Given the description of an element on the screen output the (x, y) to click on. 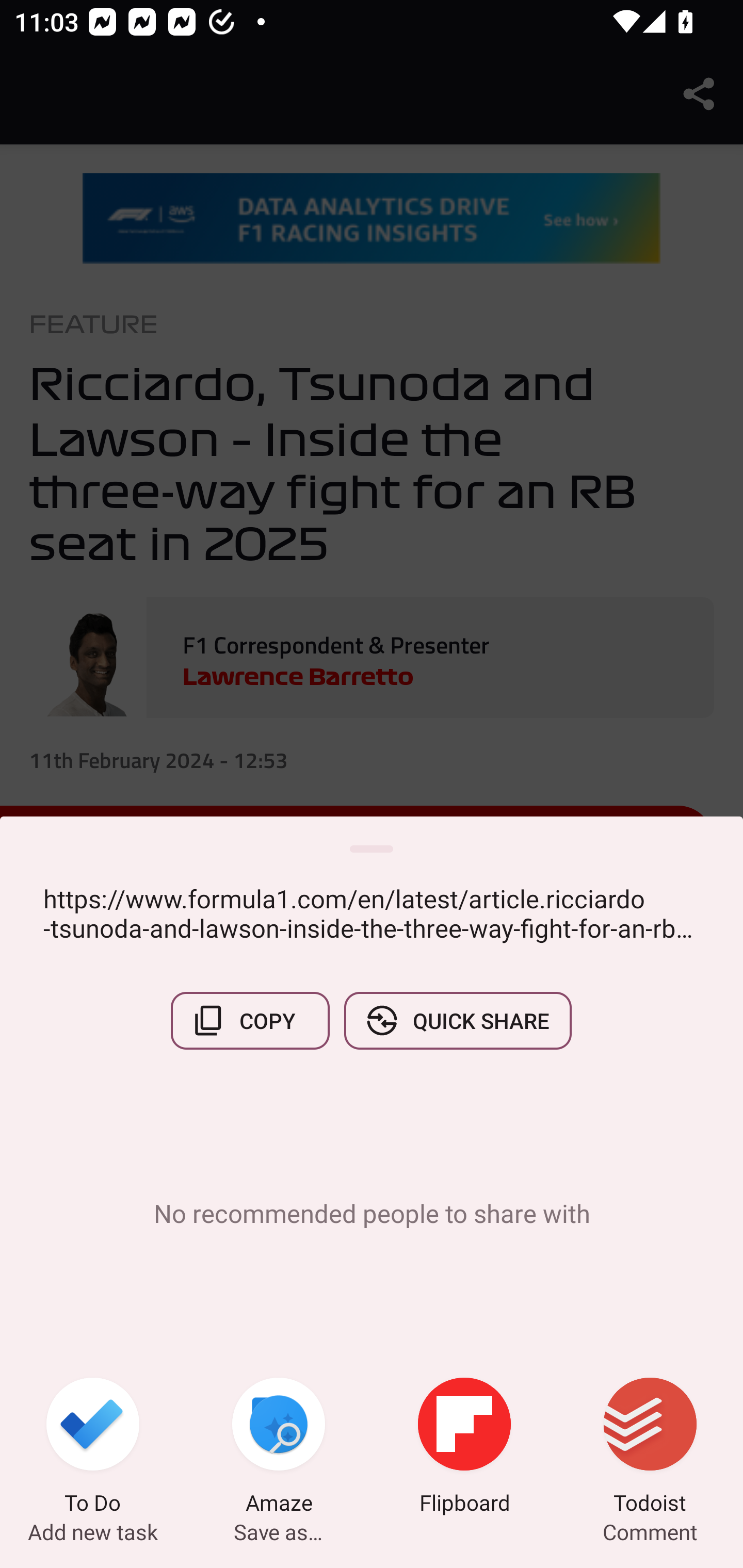
COPY (249, 1020)
QUICK SHARE (457, 1020)
To Do Add new task (92, 1448)
Amaze Save as… (278, 1448)
Flipboard (464, 1448)
Todoist Comment (650, 1448)
